Given the description of an element on the screen output the (x, y) to click on. 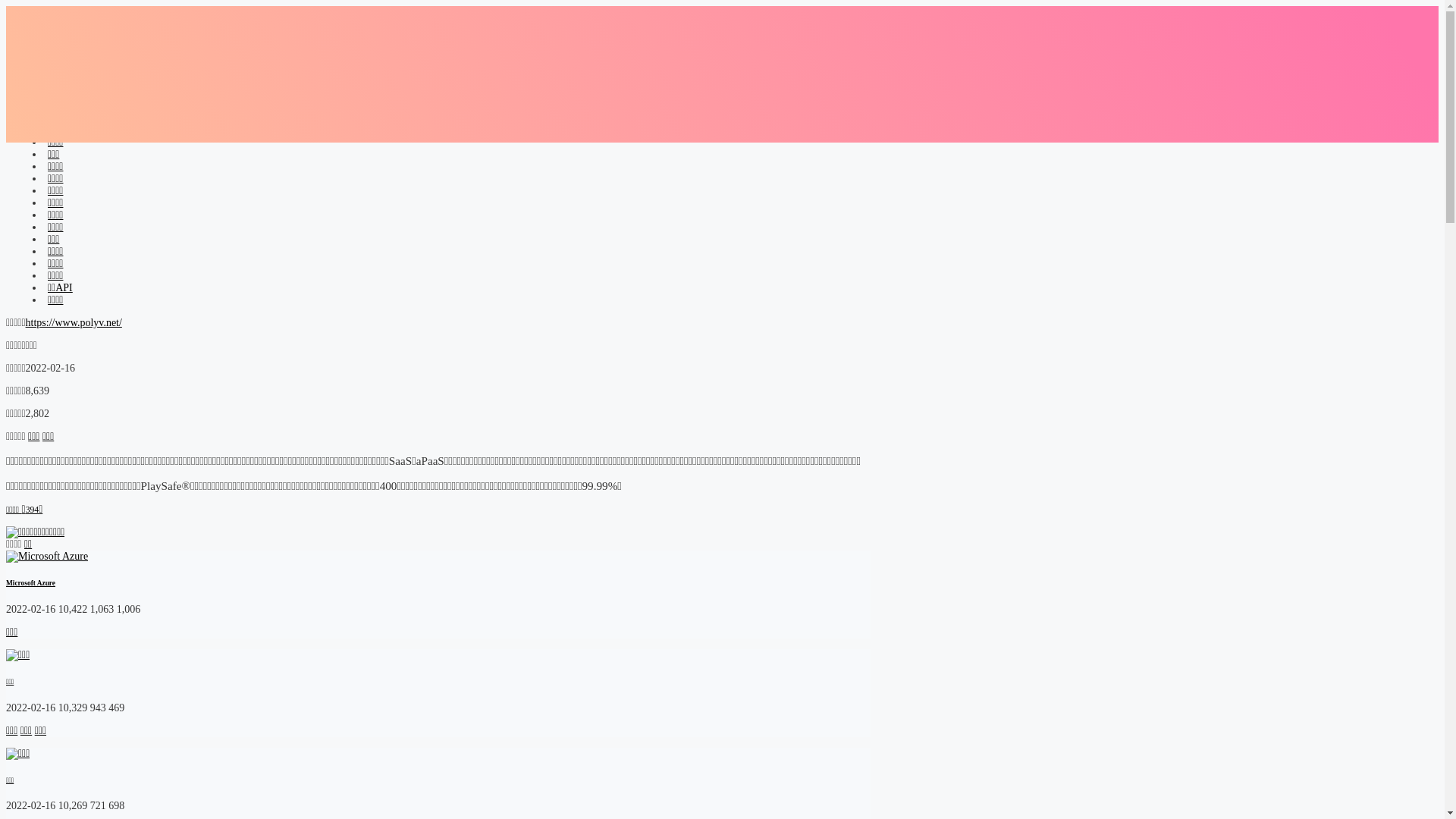
Microsoft Azure Element type: text (30, 582)
https://www.polyv.net/ Element type: text (73, 322)
